Given the description of an element on the screen output the (x, y) to click on. 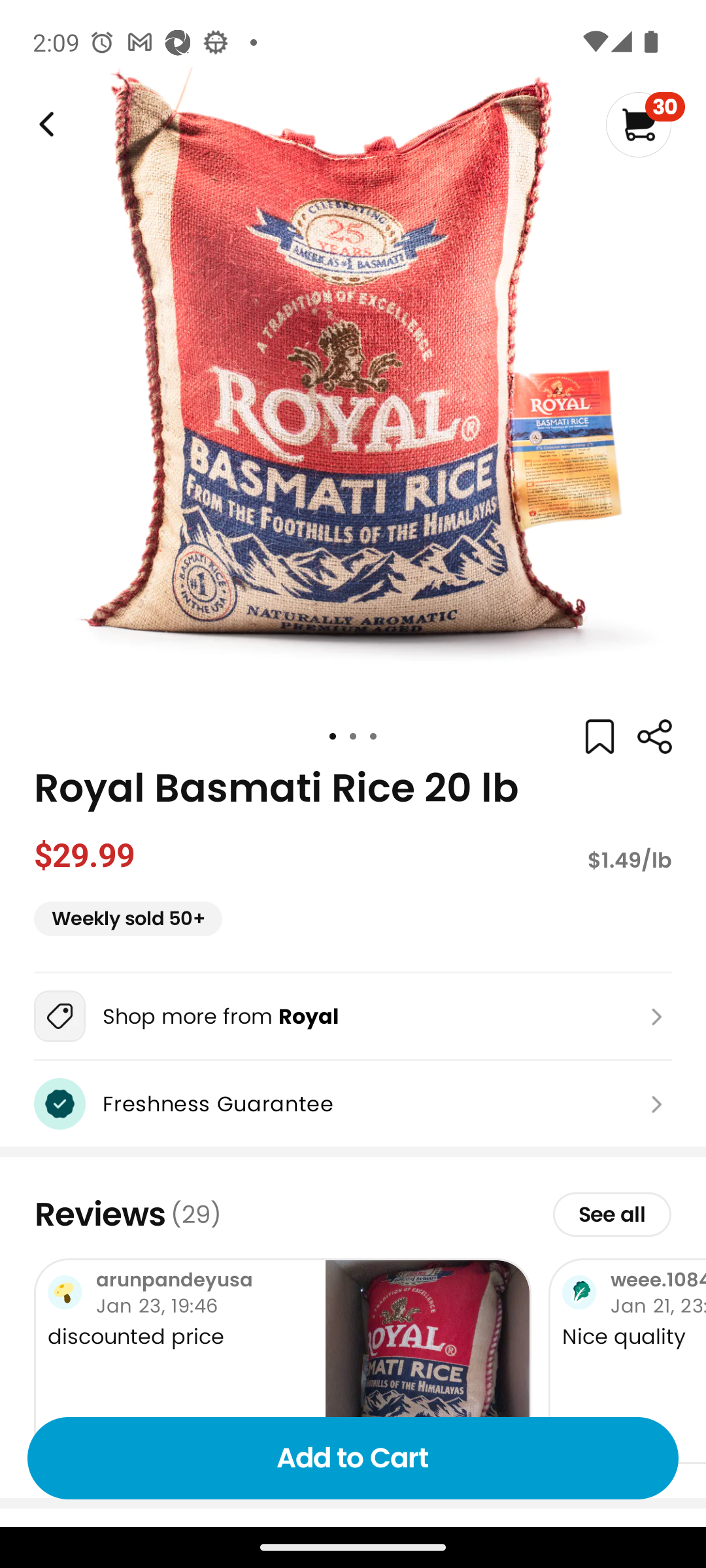
30 (644, 124)
Weee! (45, 124)
Weee! (653, 736)
Shop more from Royal Weee! (352, 1015)
Freshness Guarantee (352, 1103)
Reviews (29) See all (353, 1214)
arunpandeyusa Jan 23, 19:46 discounted price (282, 1360)
Add to Cart (352, 1458)
